Given the description of an element on the screen output the (x, y) to click on. 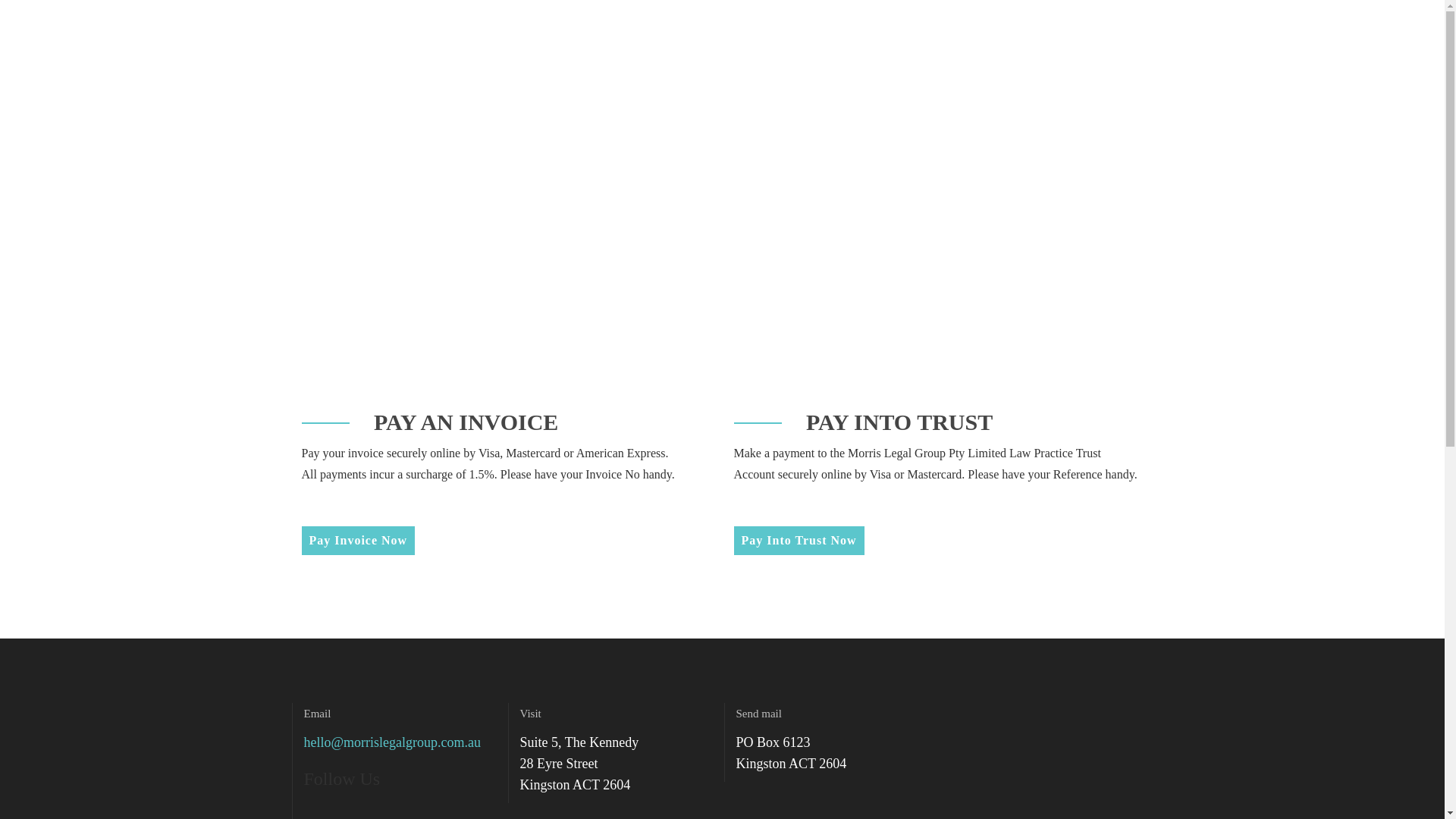
Pay Into Trust Now (798, 540)
LinkedIn (342, 811)
Pay Invoice Now (357, 540)
Facebook (314, 811)
Instagram (369, 811)
HOME (682, 295)
